Given the description of an element on the screen output the (x, y) to click on. 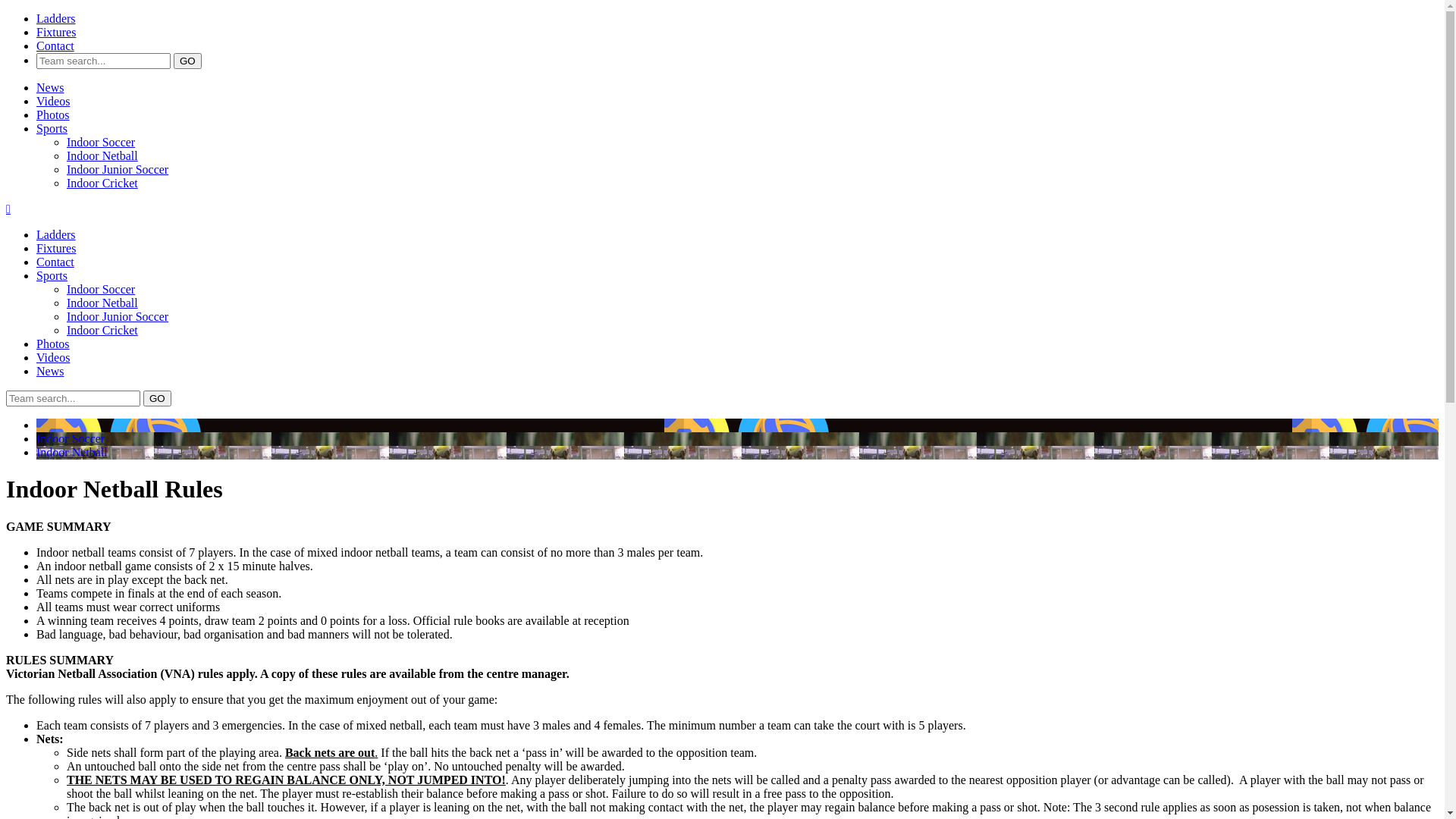
Indoor Netball Element type: text (102, 302)
Videos Element type: text (52, 357)
Contact Element type: text (55, 45)
News Element type: text (49, 370)
Indoor Soccer Element type: text (100, 141)
Indoor Soccer Element type: text (100, 288)
Videos Element type: text (52, 100)
Indoor Junior Soccer Element type: text (117, 316)
Ladders Element type: text (55, 18)
Indoor Junior Soccer Element type: text (117, 169)
Indoor Cricket Element type: text (102, 329)
Indoor Netball Element type: text (102, 155)
Photos Element type: text (52, 343)
Indoor Soccer Element type: text (70, 438)
Sports Element type: text (51, 128)
Fixtures Element type: text (55, 247)
Indoor Cricket Element type: text (102, 182)
Photos Element type: text (52, 114)
Indoor Netball Element type: text (71, 451)
Fixtures Element type: text (55, 31)
Sports Element type: text (51, 275)
Ladders Element type: text (55, 234)
News Element type: text (49, 87)
Contact Element type: text (55, 261)
